Given the description of an element on the screen output the (x, y) to click on. 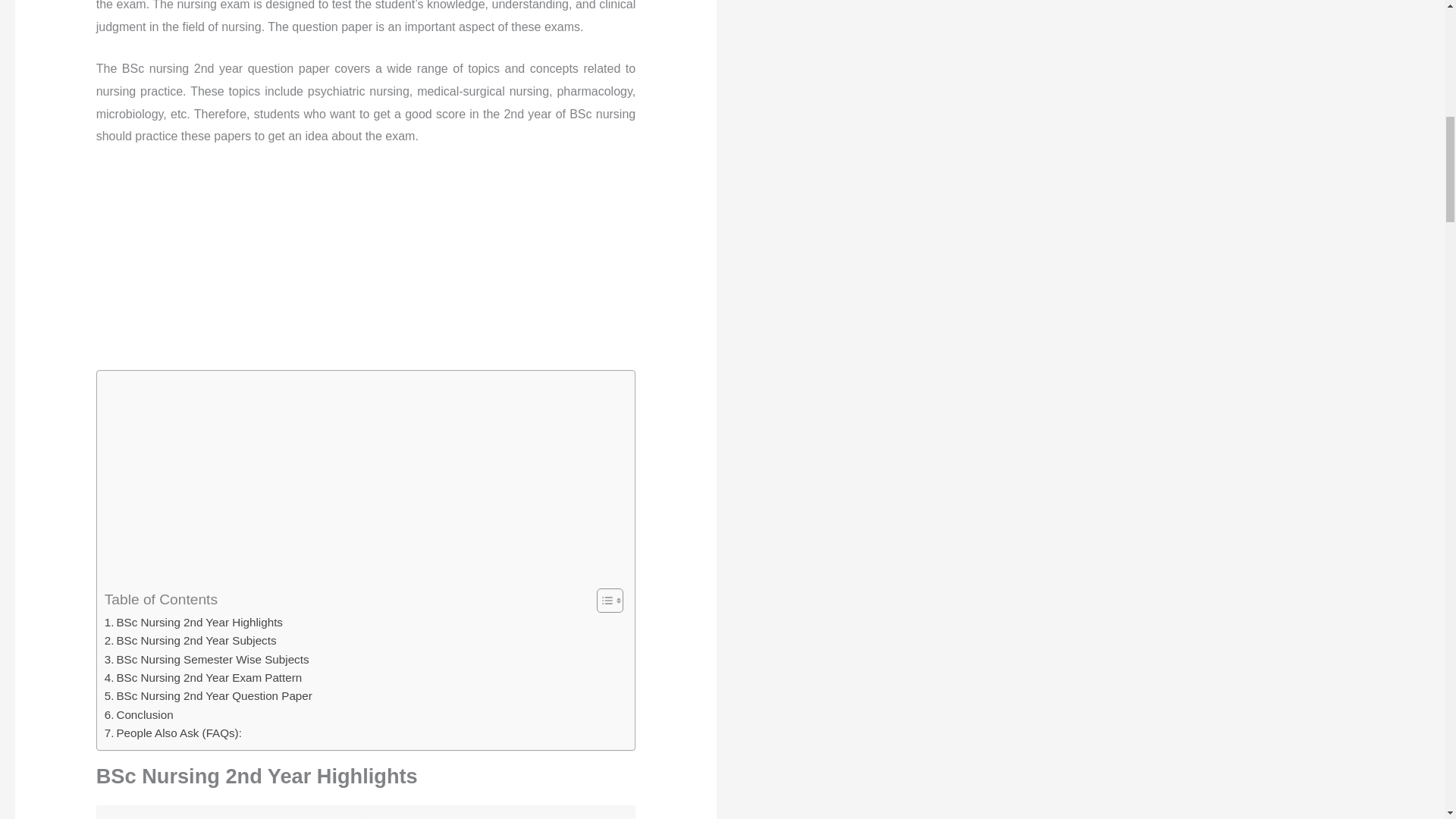
BSc Nursing 2nd Year Subjects (190, 640)
Conclusion (138, 714)
BSc Nursing 2nd Year Question Paper (208, 696)
BSc Nursing Semester Wise Subjects (206, 659)
BSc Nursing 2nd Year Exam Pattern (203, 678)
BSc Nursing 2nd Year Highlights (193, 622)
